Given the description of an element on the screen output the (x, y) to click on. 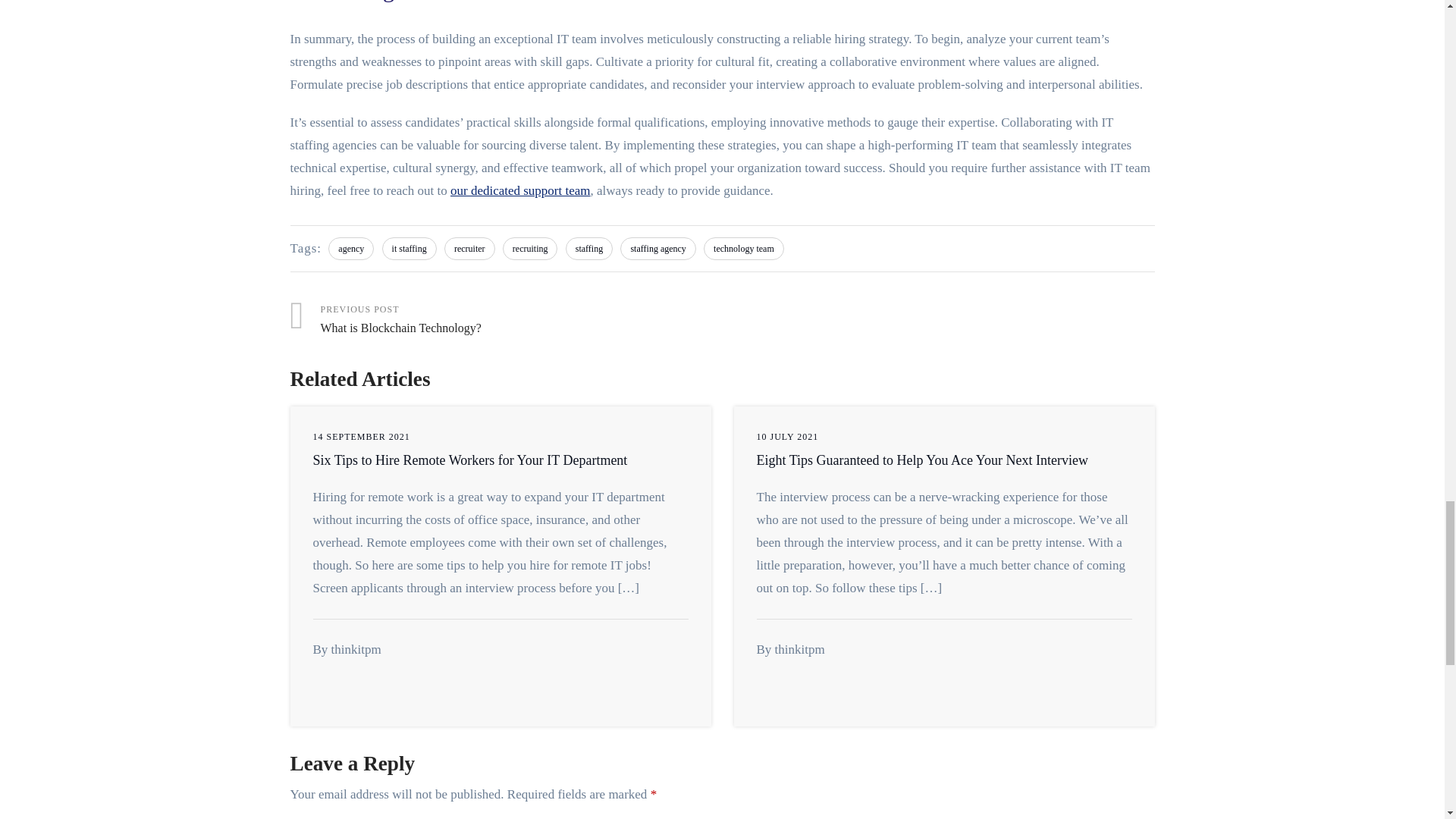
agency (351, 248)
Eight Tips Guaranteed to Help You Ace Your Next Interview (922, 459)
What is Blockchain Technology? (505, 320)
staffing (589, 248)
Six Tips to Hire Remote Workers for Your IT Department (470, 459)
it staffing (408, 248)
technology team (743, 248)
Six Tips to Hire Remote Workers for Your IT Department (505, 320)
our dedicated support team (470, 459)
recruiting (520, 190)
staffing agency (529, 248)
recruiter (657, 248)
Eight Tips Guaranteed to Help You Ace Your Next Interview (469, 248)
